Given the description of an element on the screen output the (x, y) to click on. 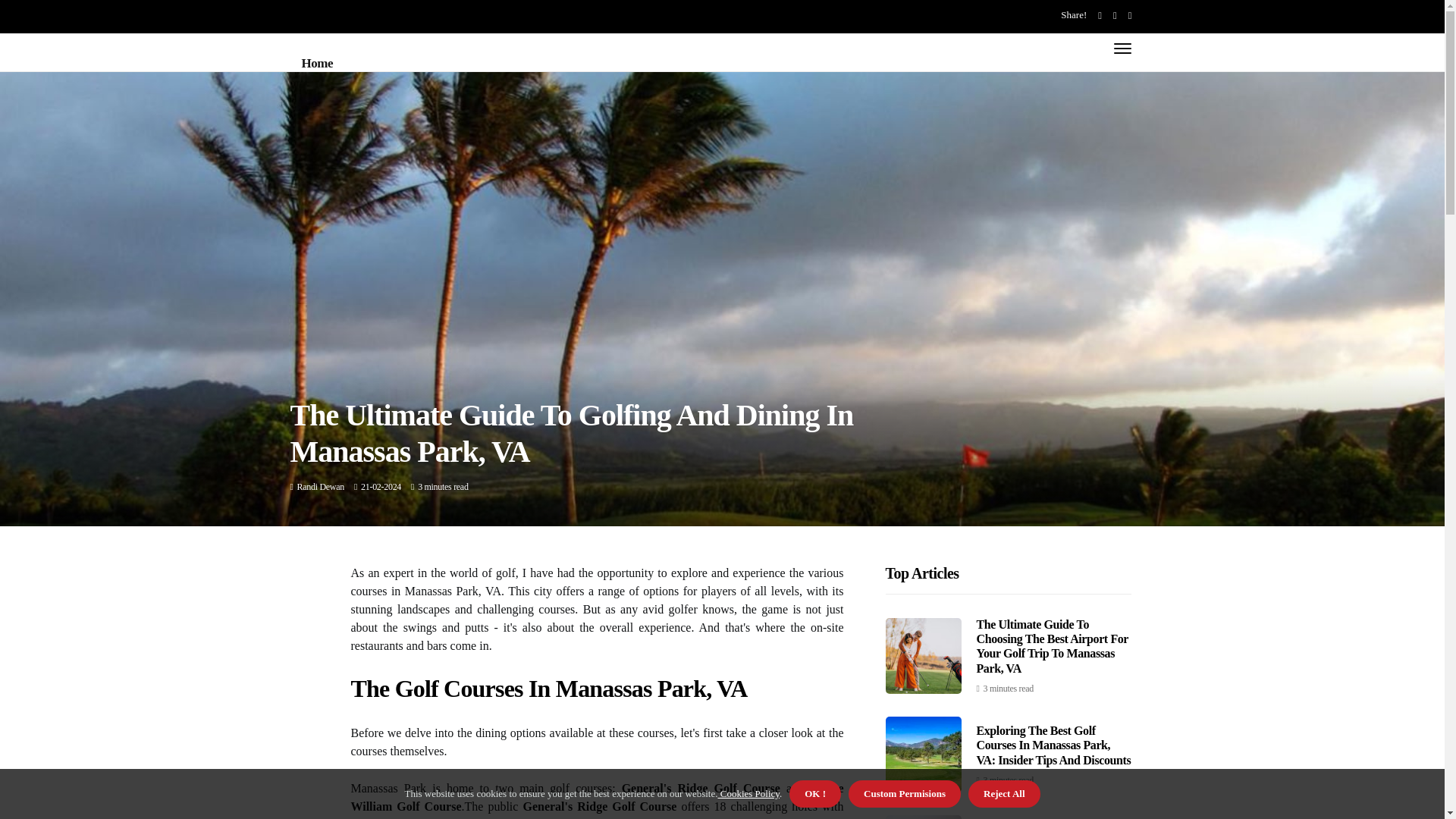
Posts by Randi Dewan (320, 486)
Randi Dewan (320, 486)
